Given the description of an element on the screen output the (x, y) to click on. 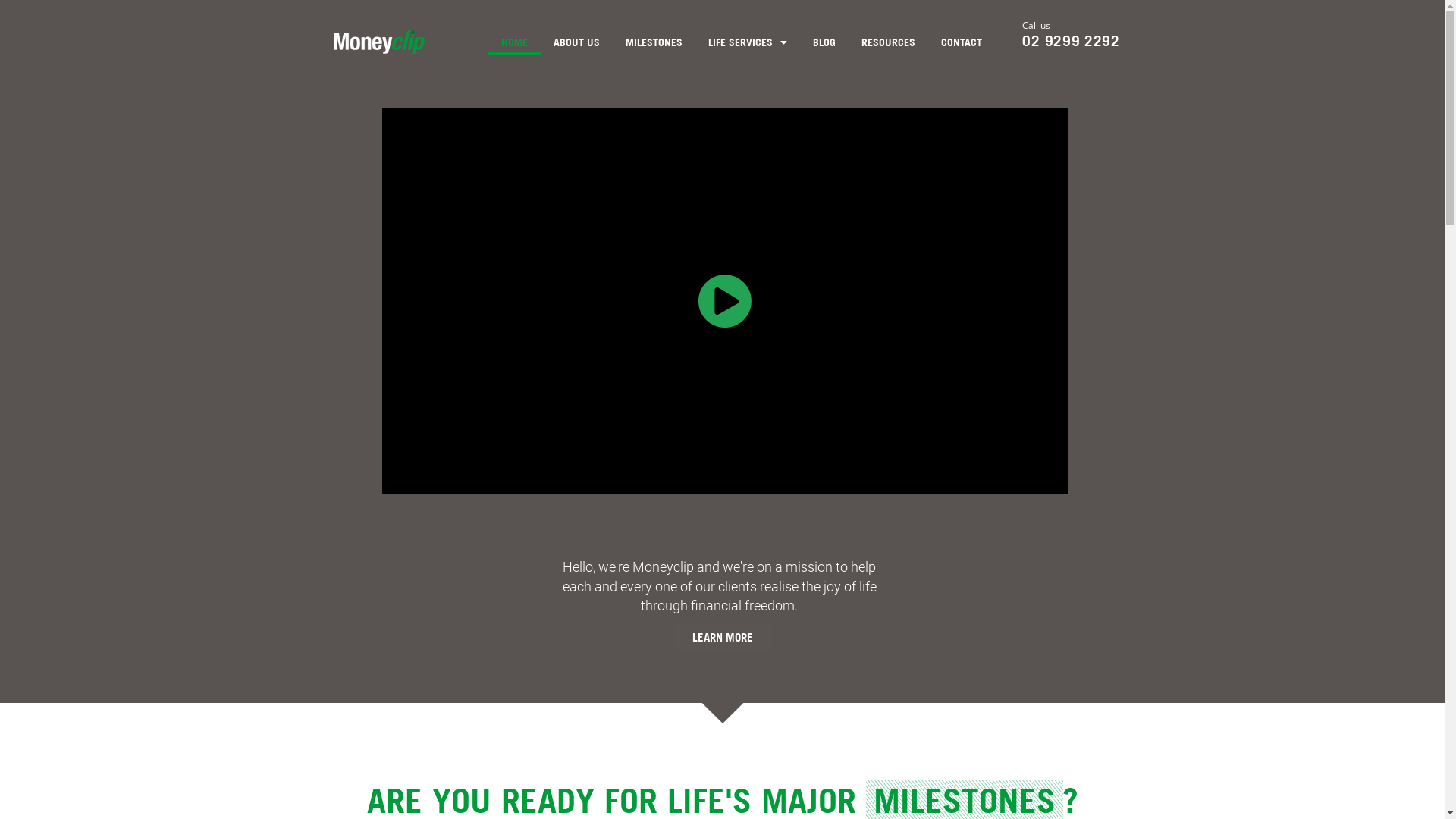
MILESTONES Element type: text (653, 42)
02 9299 2292 Element type: text (1070, 41)
RESOURCES Element type: text (888, 42)
LIFE SERVICES Element type: text (747, 42)
ABOUT US Element type: text (576, 42)
LEARN MORE Element type: text (721, 637)
BLOG Element type: text (824, 42)
CONTACT Element type: text (961, 42)
HOME Element type: text (514, 42)
